Given the description of an element on the screen output the (x, y) to click on. 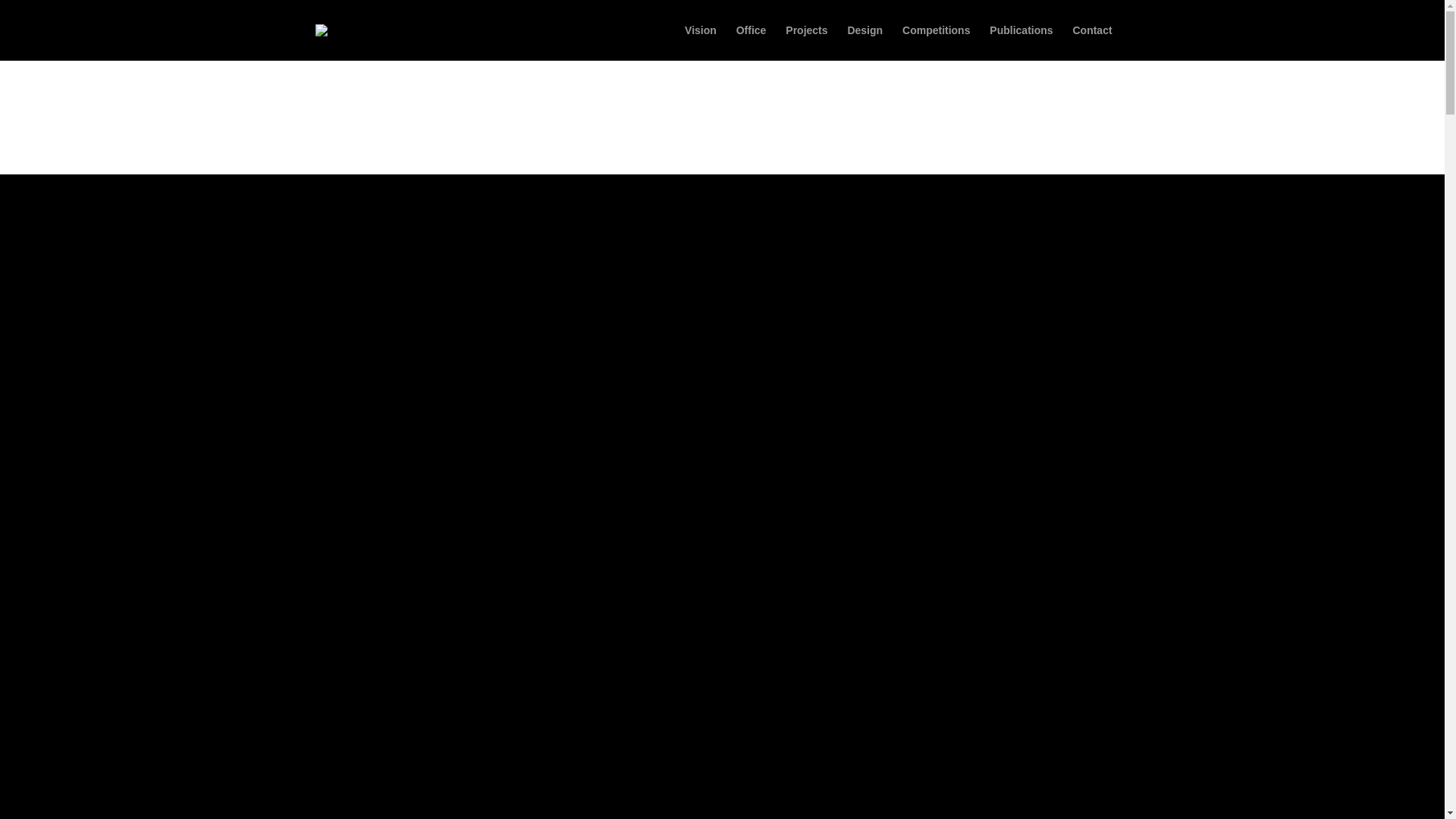
Projects (806, 42)
Contact (1091, 42)
Vision (700, 42)
Publications (1021, 42)
Competitions (935, 42)
Design (864, 42)
